Given the description of an element on the screen output the (x, y) to click on. 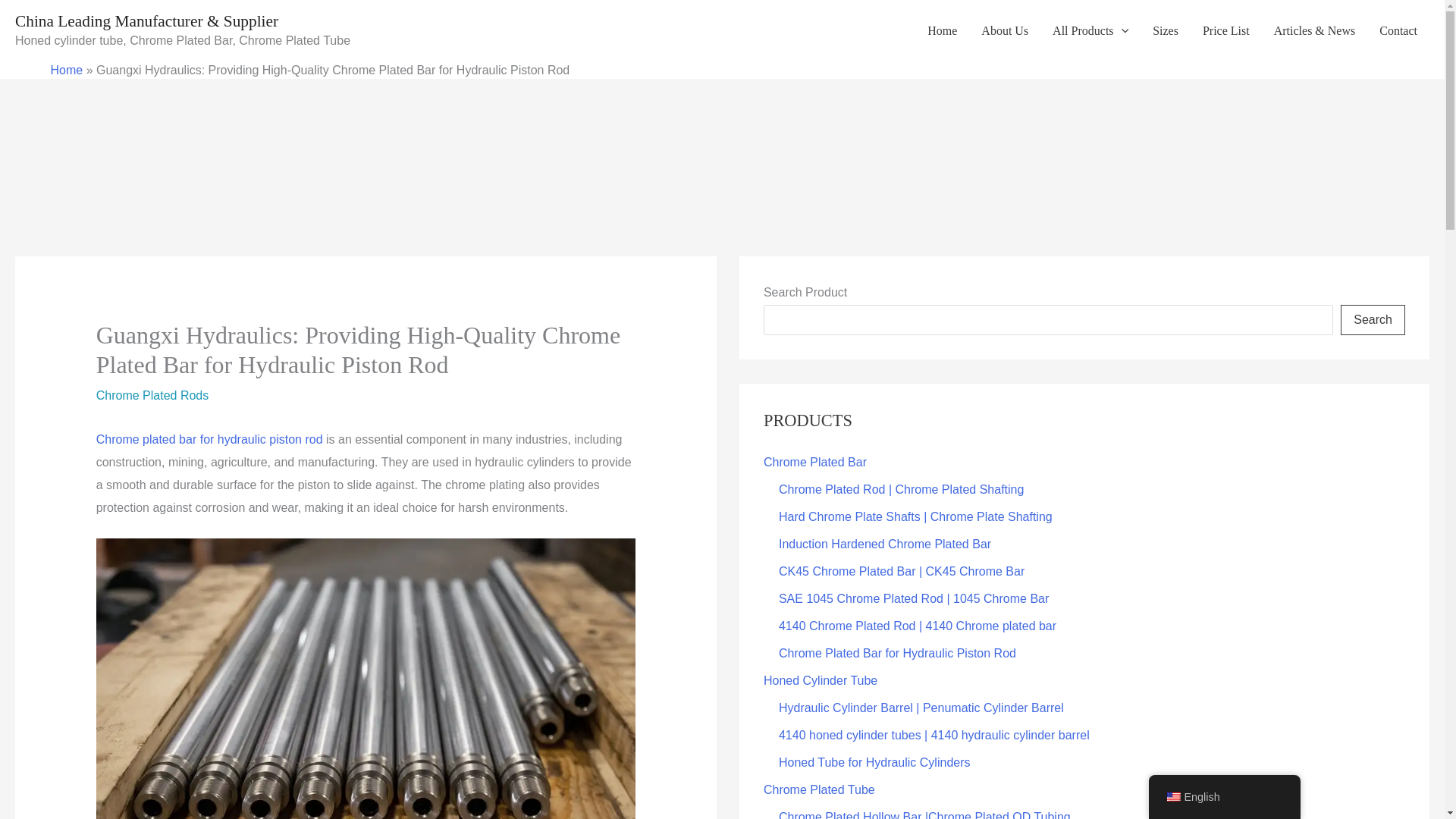
Chrome plated bar for hydraulic piston rod (209, 439)
Home (65, 69)
All Products (1090, 30)
Sizes (1165, 30)
Chrome Plated Rods (152, 395)
About Us (1005, 30)
Contact (1398, 30)
English (1172, 796)
Home (942, 30)
Price List (1226, 30)
